Given the description of an element on the screen output the (x, y) to click on. 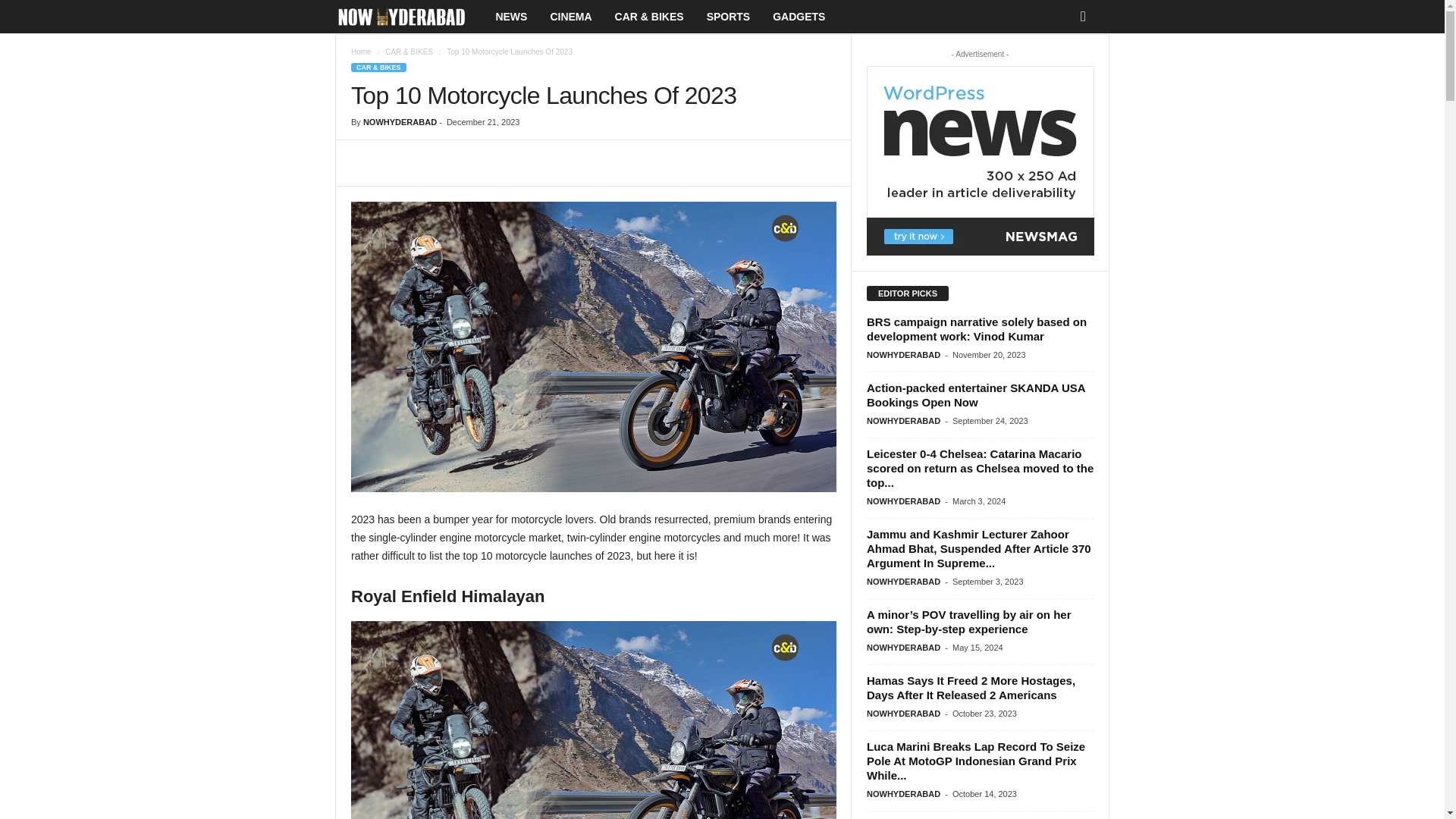
NOW HYDERABAD (408, 16)
Home (360, 51)
GADGETS (798, 16)
CINEMA (570, 16)
NEWS (510, 16)
Top 10 Motorcycle Launches Of 2023 (592, 719)
NOWHYDERABAD (399, 121)
SPORTS (728, 16)
